Given the description of an element on the screen output the (x, y) to click on. 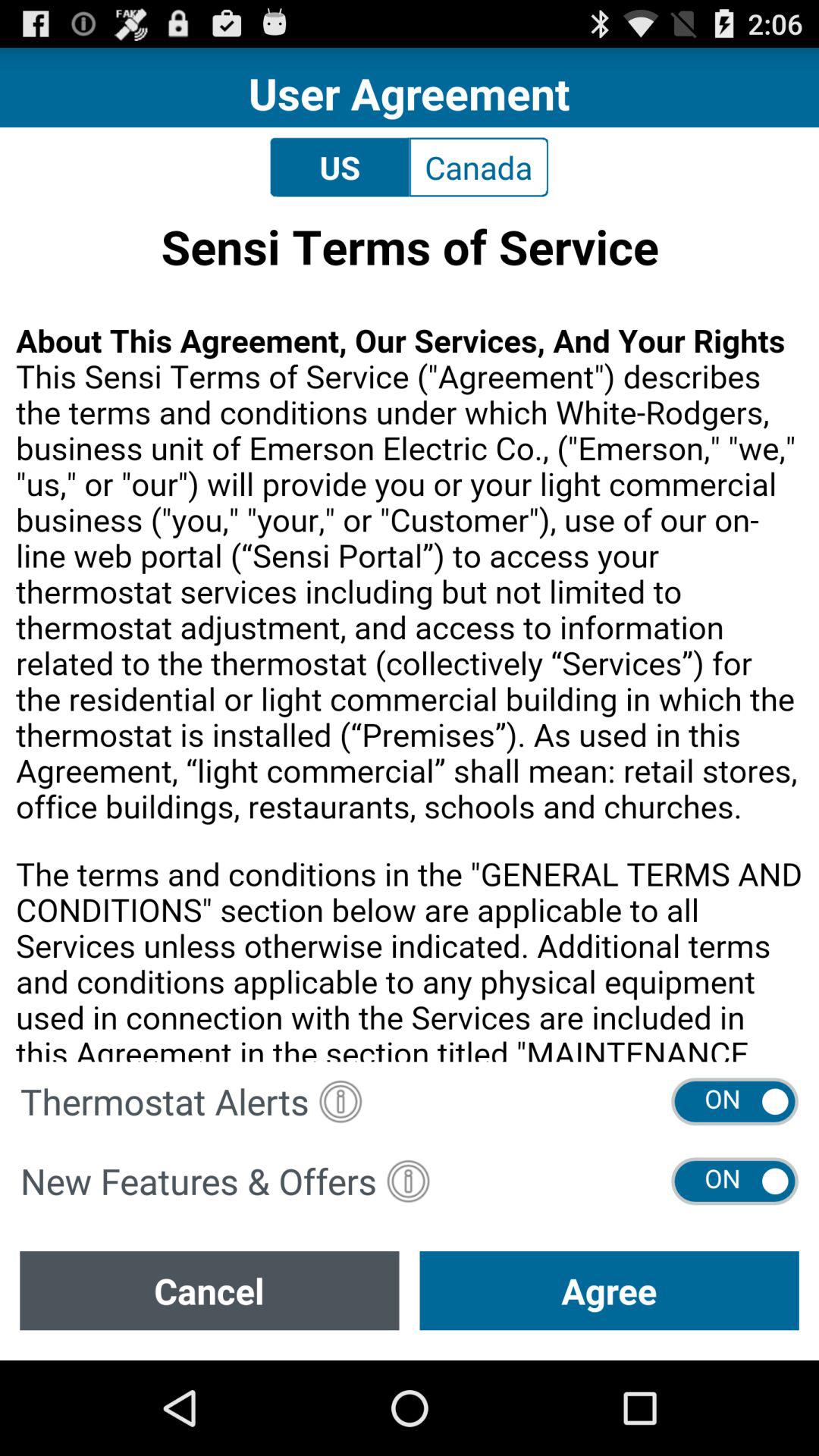
open information page (408, 1180)
